Given the description of an element on the screen output the (x, y) to click on. 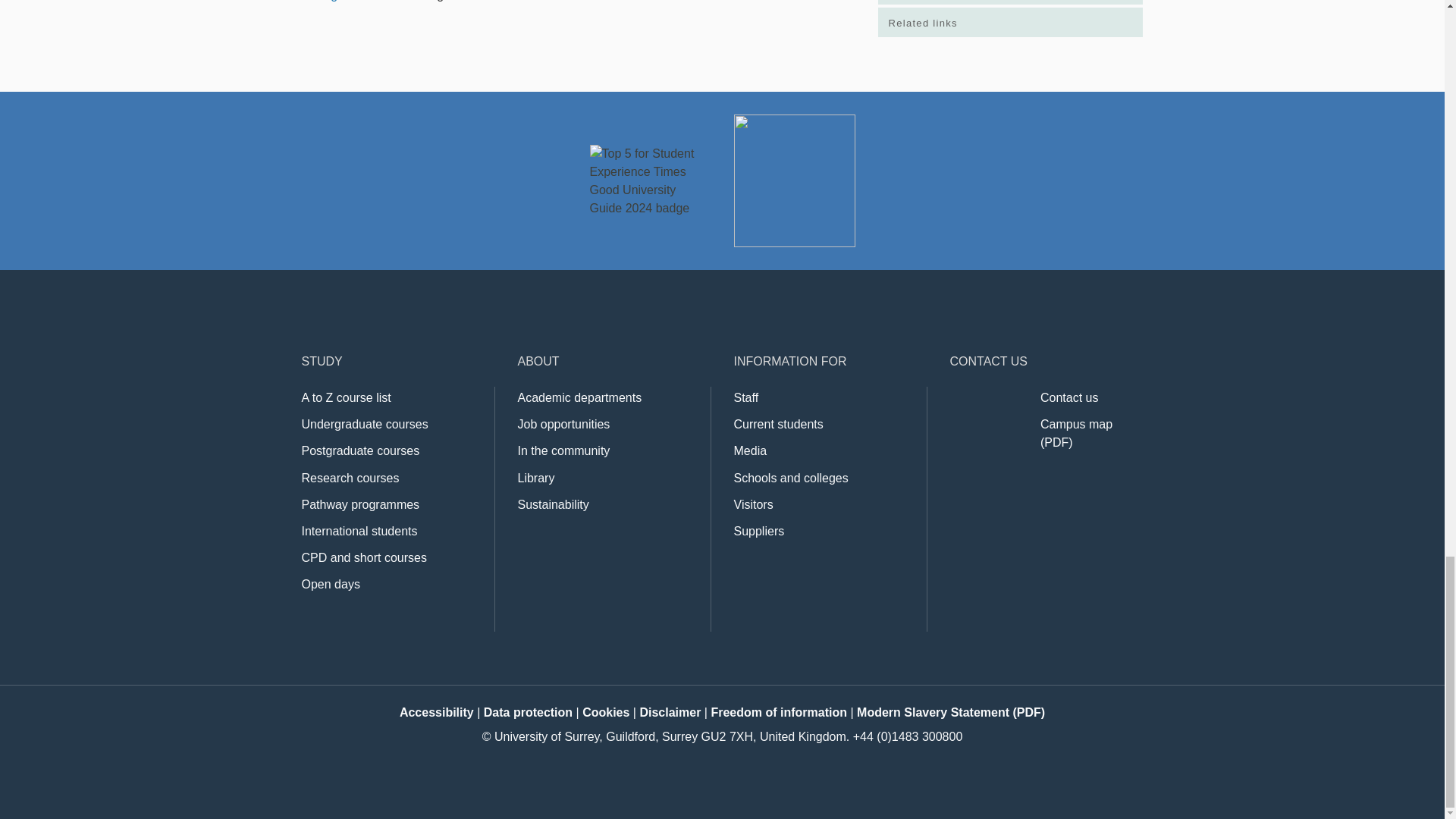
Modern slavery statement (951, 712)
University of Surrey campus map (1076, 432)
